Given the description of an element on the screen output the (x, y) to click on. 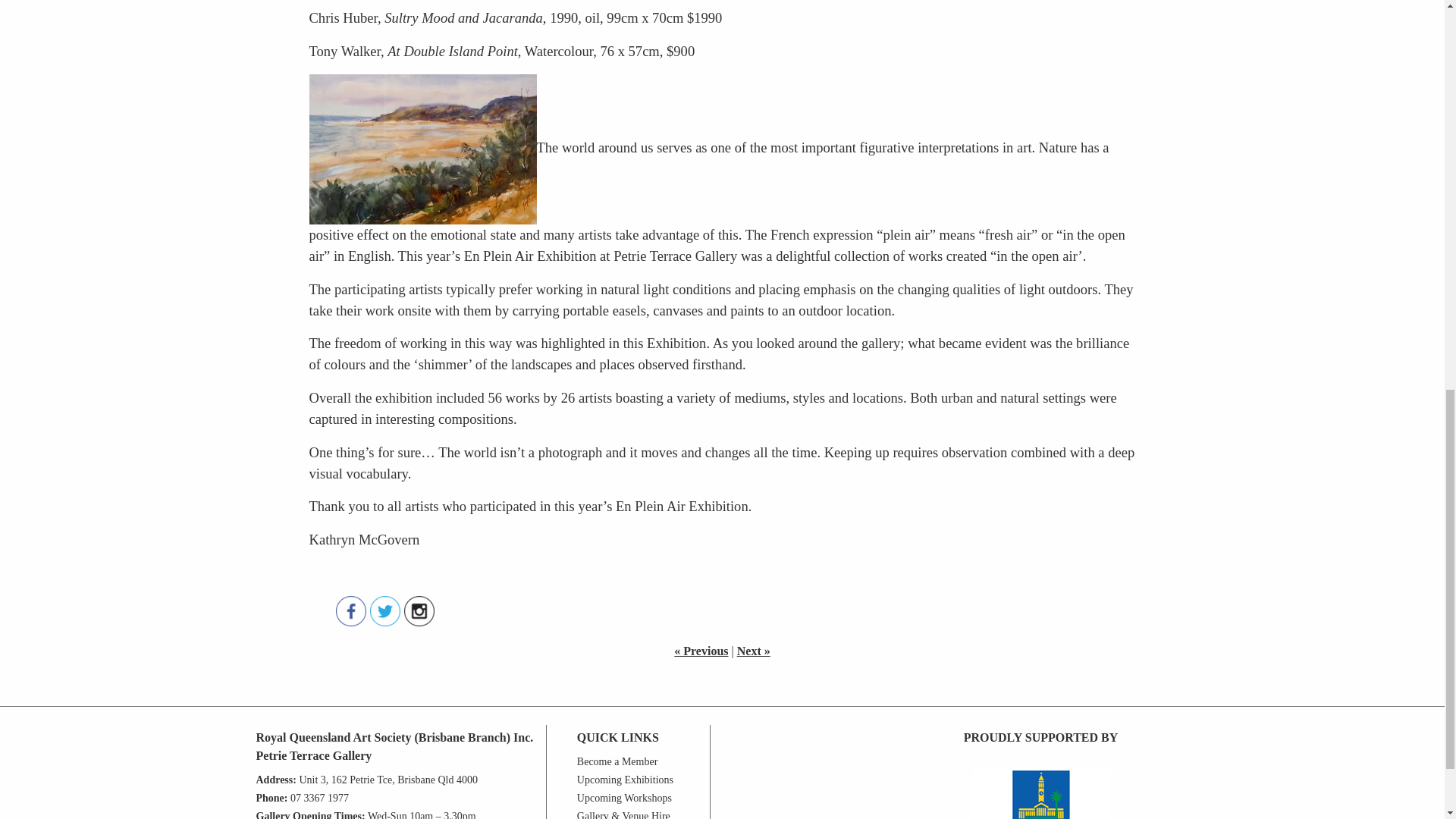
Facebook (349, 611)
Twitter (384, 611)
